Given the description of an element on the screen output the (x, y) to click on. 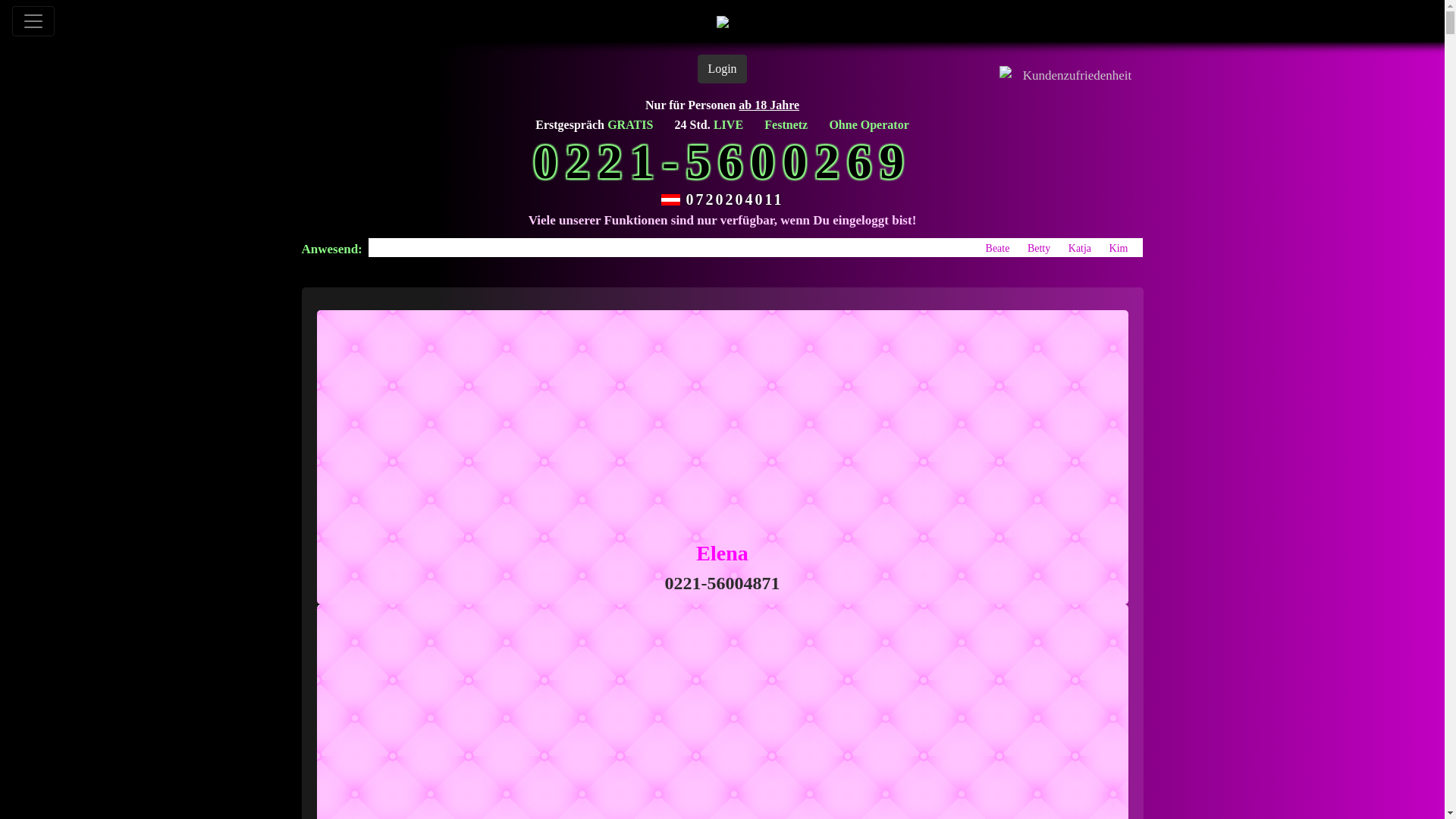
Beate Element type: text (997, 248)
Kim Element type: text (1118, 248)
0221-56004871 Element type: text (721, 583)
Login Element type: text (721, 68)
Betty Element type: text (1038, 248)
0720204011 Element type: text (735, 199)
Katja Element type: text (1079, 248)
0221-5600269 Element type: text (722, 161)
